Given the description of an element on the screen output the (x, y) to click on. 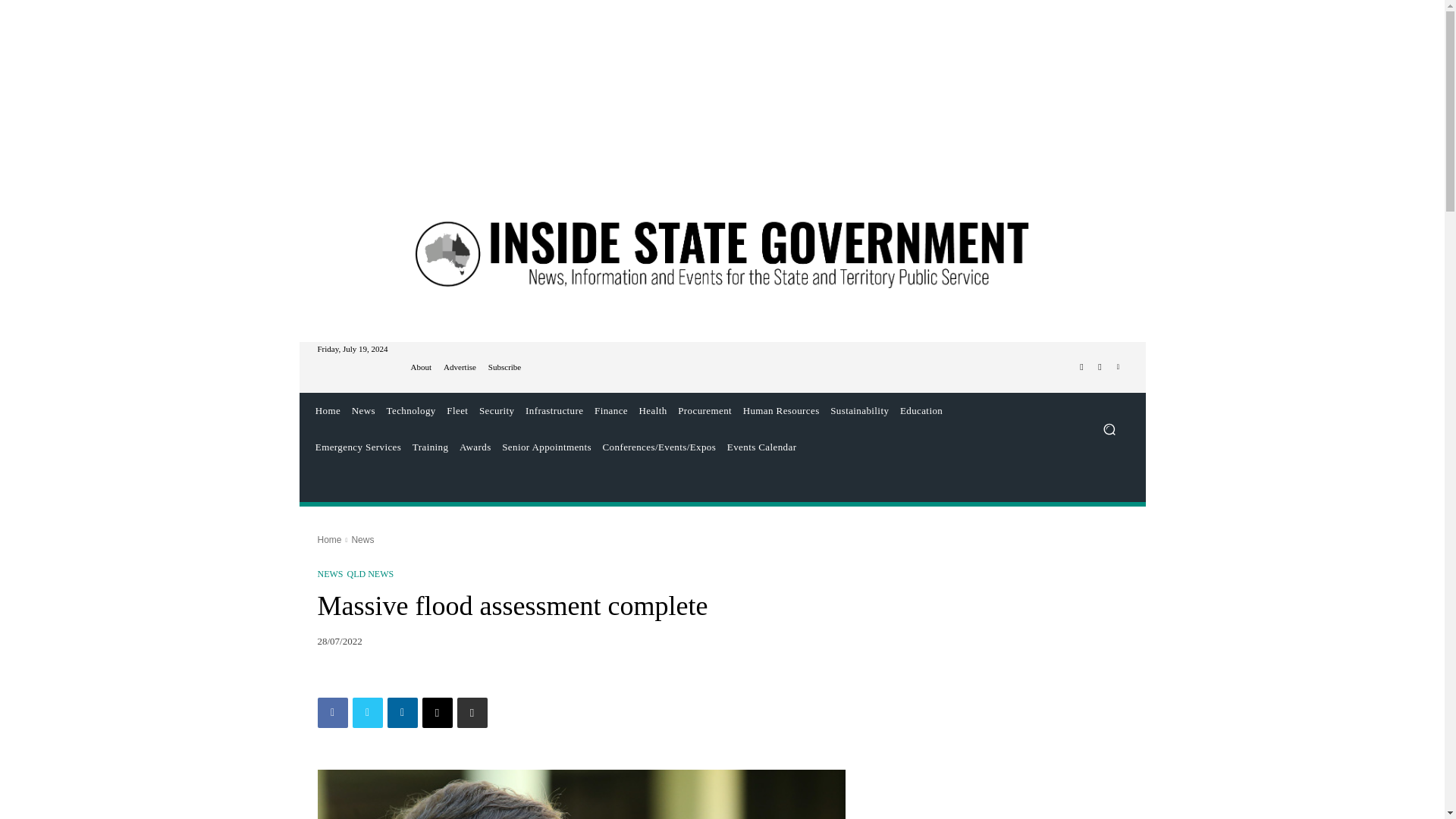
Linkedin (1117, 366)
Advertise (460, 367)
Subscribe (504, 367)
Print (471, 712)
Facebook (332, 712)
About (421, 367)
News (363, 411)
Home (327, 411)
Linkedin (401, 712)
Facebook (1080, 366)
Twitter (1099, 366)
Twitter (366, 712)
Email (436, 712)
View all posts in News (362, 539)
